Given the description of an element on the screen output the (x, y) to click on. 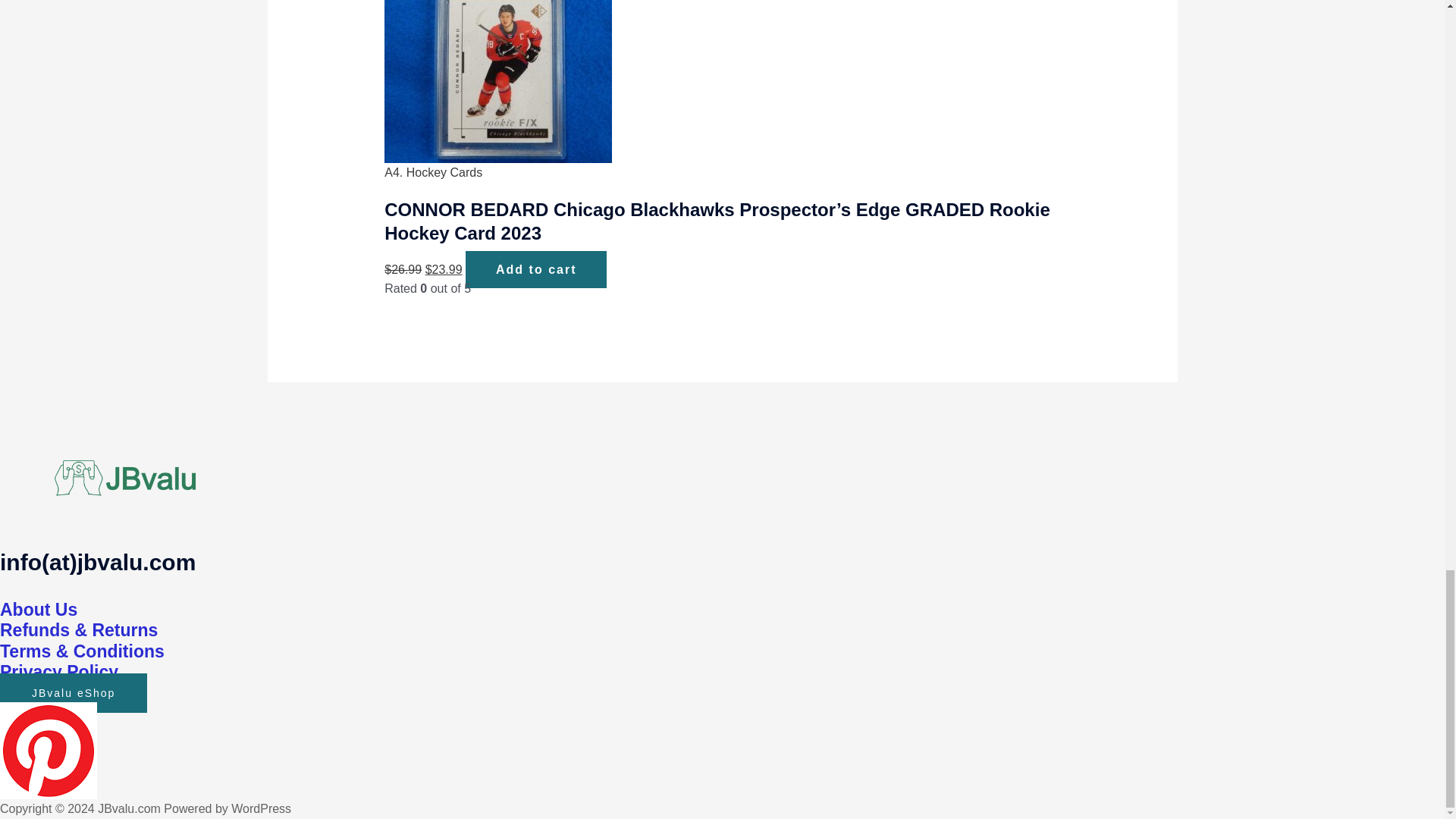
Privacy Policy (58, 671)
JBvalu eShop (73, 692)
Add to cart (536, 269)
About Us (38, 608)
